Given the description of an element on the screen output the (x, y) to click on. 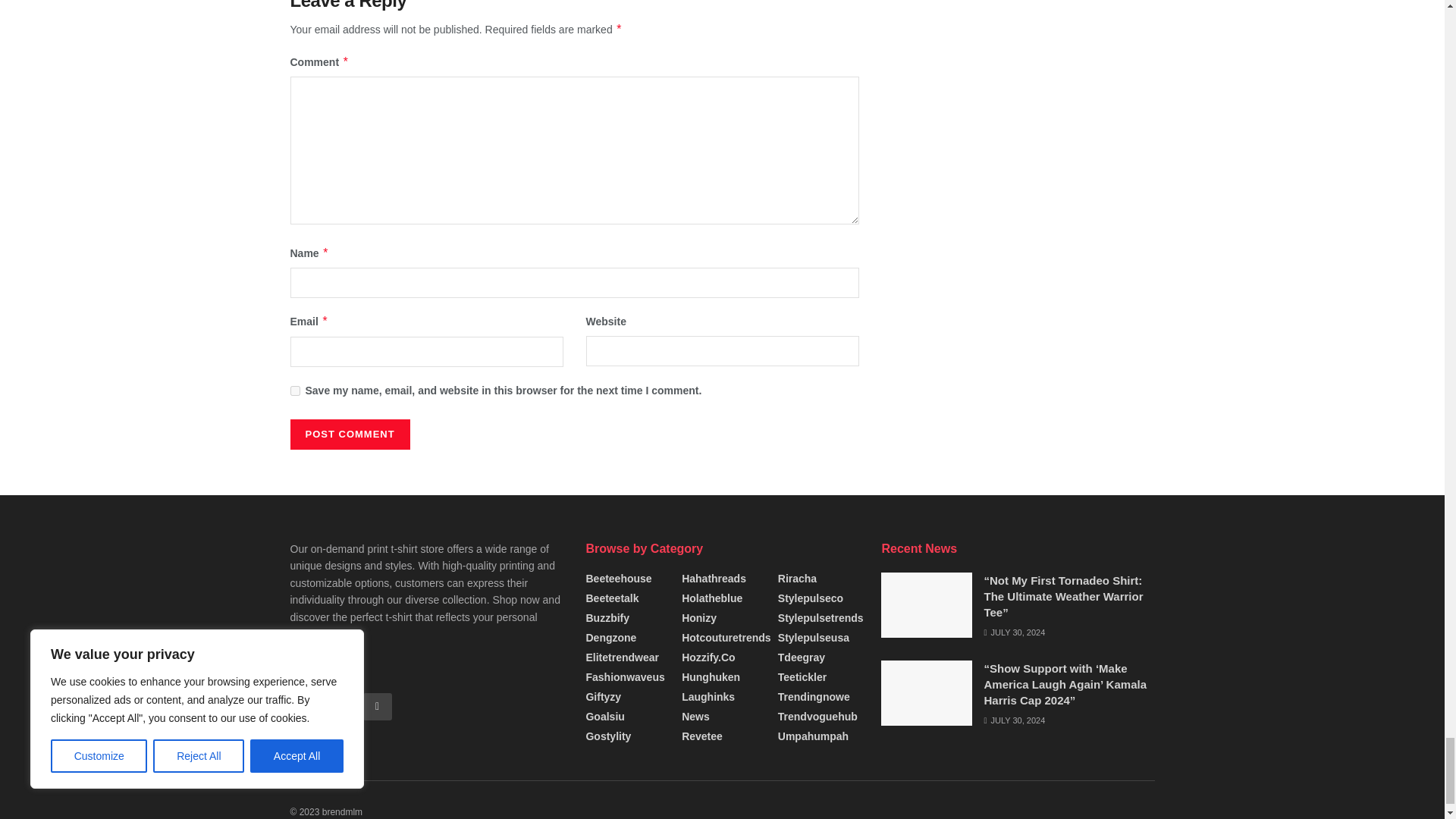
Post Comment (349, 434)
yes (294, 390)
